Given the description of an element on the screen output the (x, y) to click on. 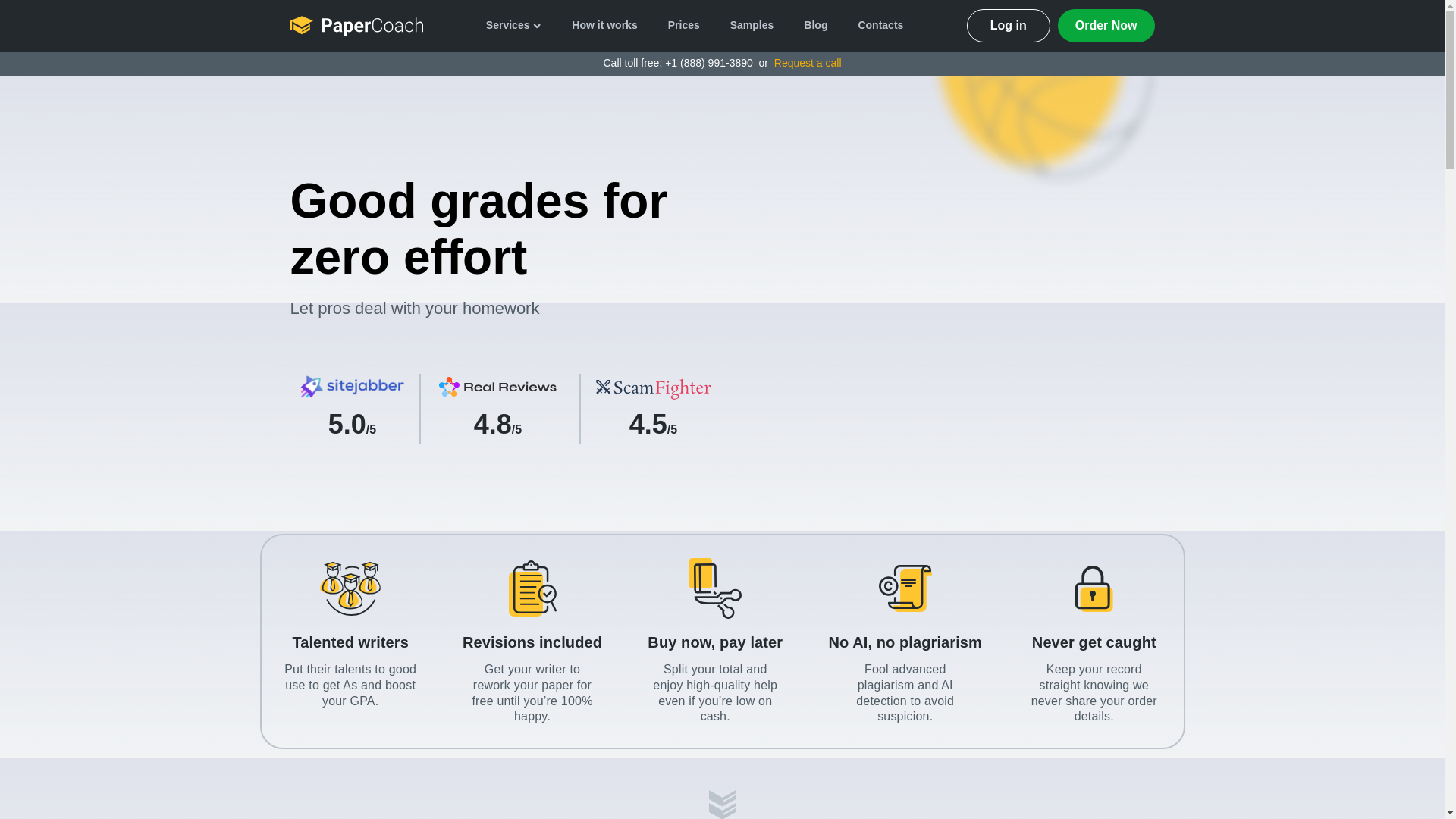
Blog (816, 25)
Samples (751, 25)
Order Now (1106, 26)
How it works (604, 25)
Prices (683, 25)
Contacts (880, 25)
